Given the description of an element on the screen output the (x, y) to click on. 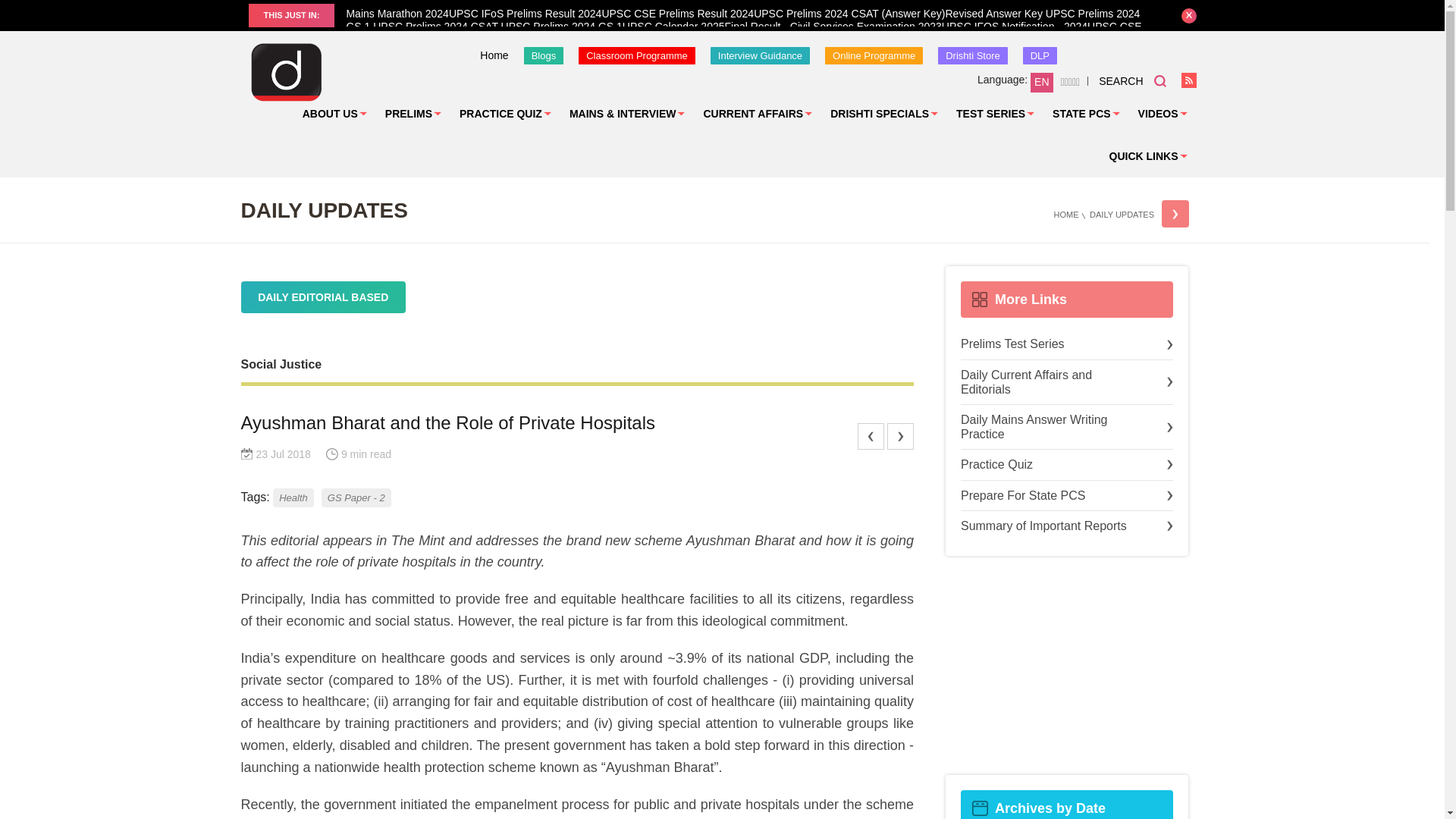
UPSC Calendar 2025 (674, 26)
RSS (1188, 79)
close (1188, 14)
Revised Answer Key UPSC Prelims 2024 GS 1 (743, 19)
Final Result - Civil Services Examination 2023 (833, 26)
UPSC Prelims 2024 GS 1 (560, 26)
DLP (1040, 55)
UPSC CSE Notification 2024 (743, 32)
Interview Guidance (759, 55)
ABOUT US (334, 113)
